Given the description of an element on the screen output the (x, y) to click on. 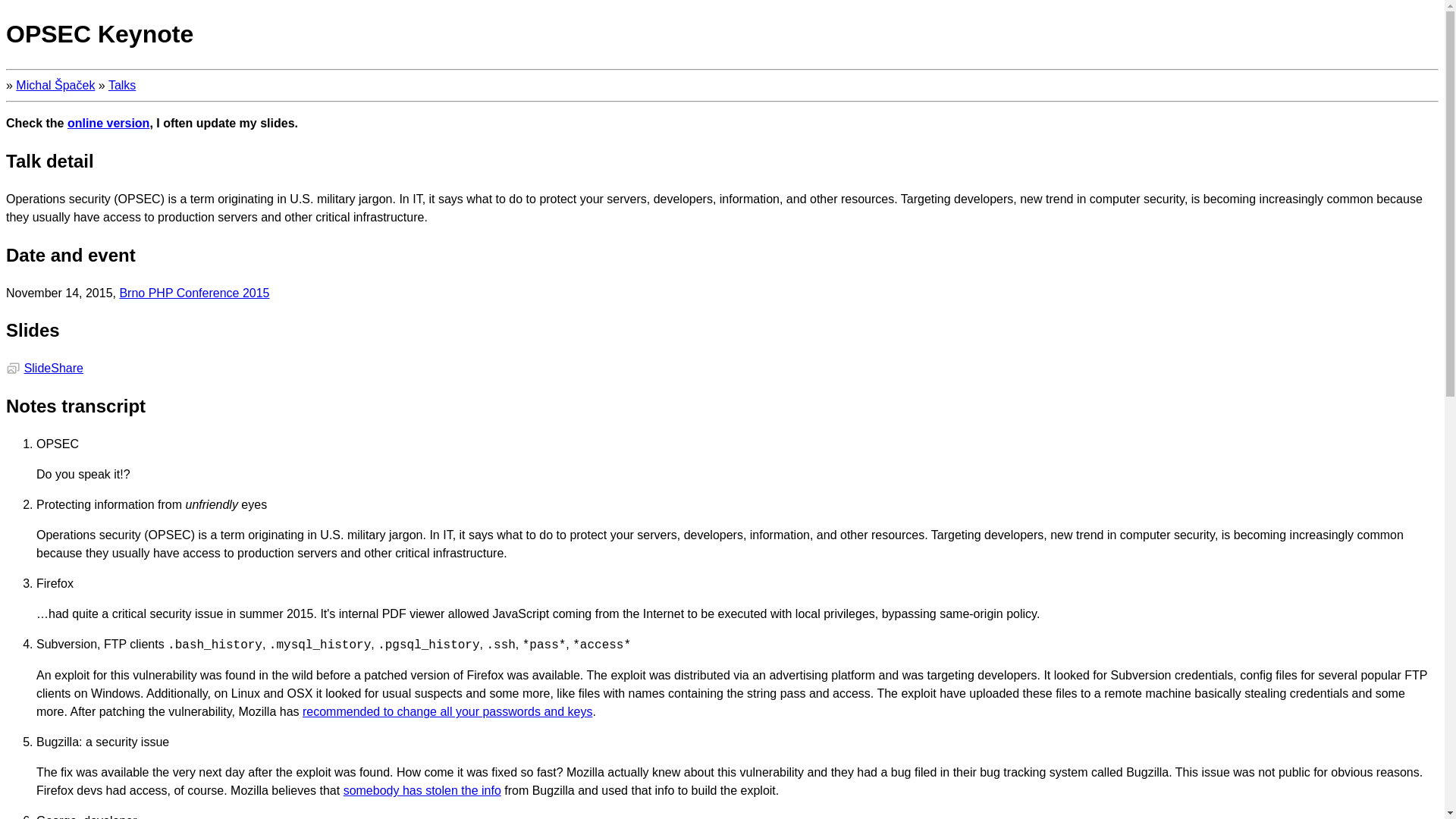
Brno PHP Conference 2015 (194, 292)
SlideShare (53, 367)
recommended to change all your passwords and keys (447, 711)
online version (107, 123)
somebody has stolen the info (421, 789)
Slides (12, 367)
Talks (121, 84)
